Given the description of an element on the screen output the (x, y) to click on. 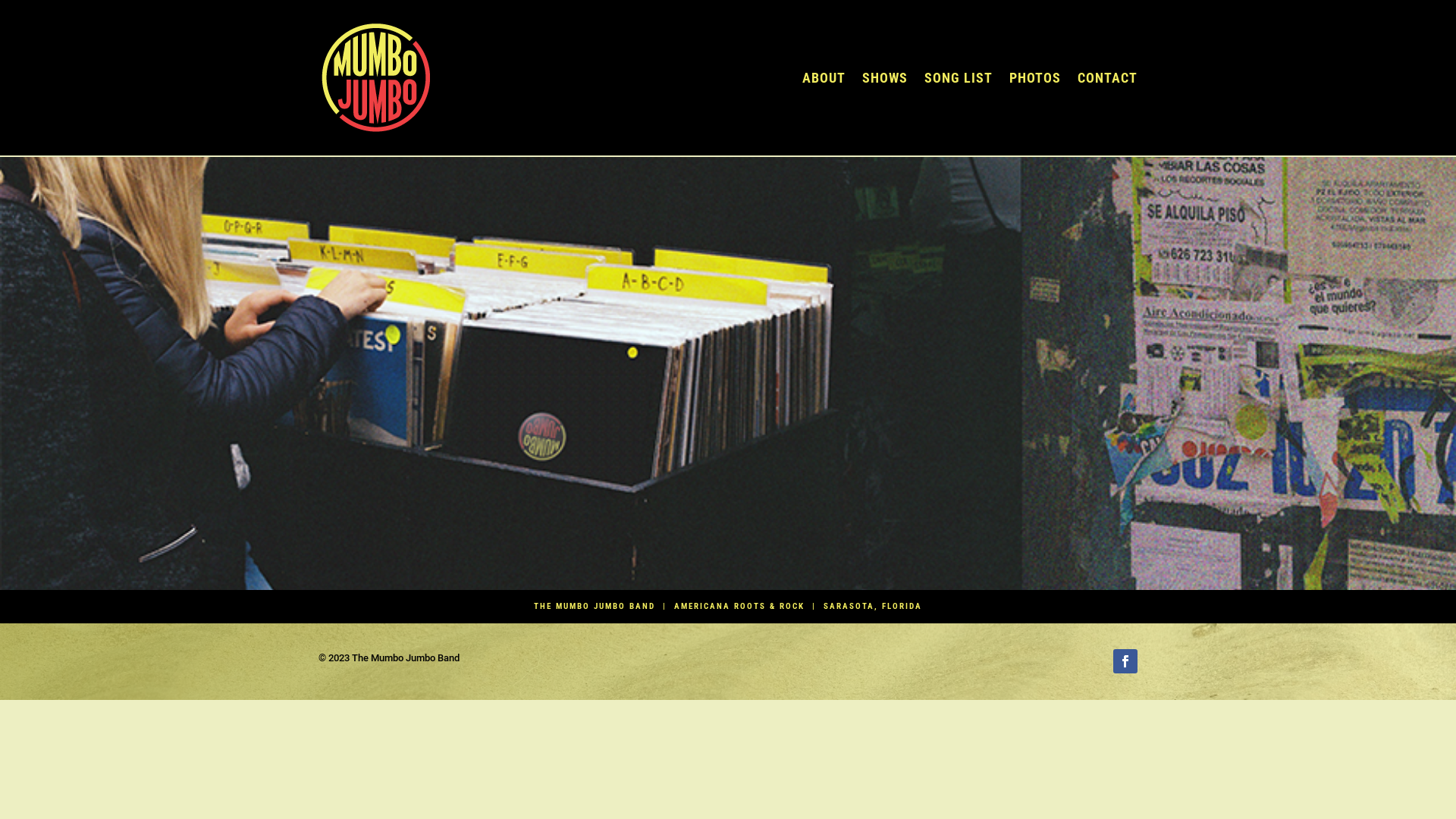
Follow on Facebook Element type: hover (1125, 661)
ABOUT Element type: text (823, 77)
SONG LIST Element type: text (958, 77)
CONTACT Element type: text (1107, 77)
PHOTOS Element type: text (1034, 77)
SHOWS Element type: text (884, 77)
